Given the description of an element on the screen output the (x, y) to click on. 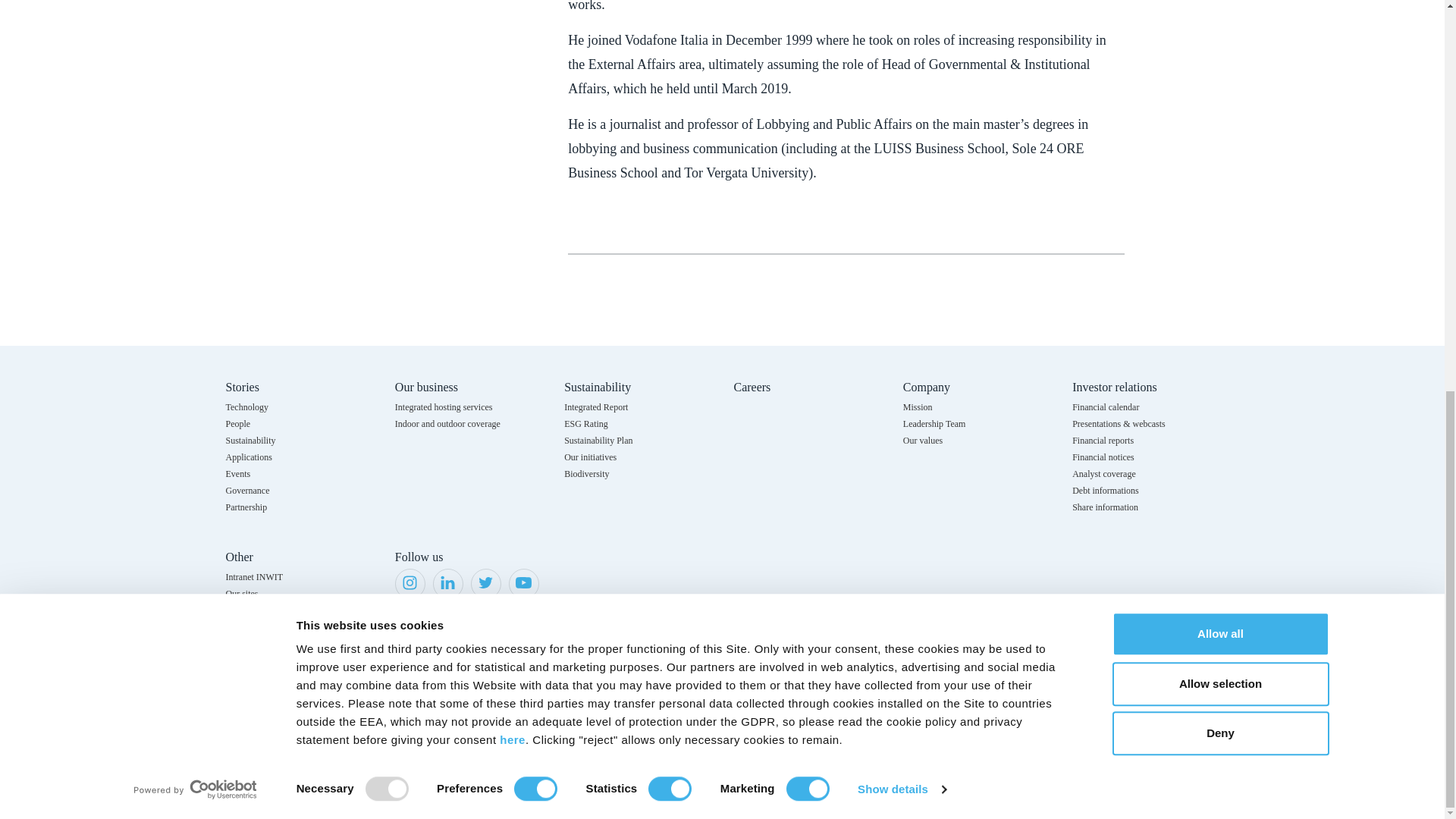
Show details (900, 42)
Deny (1219, 4)
BIC 2024 (620, 730)
